Given the description of an element on the screen output the (x, y) to click on. 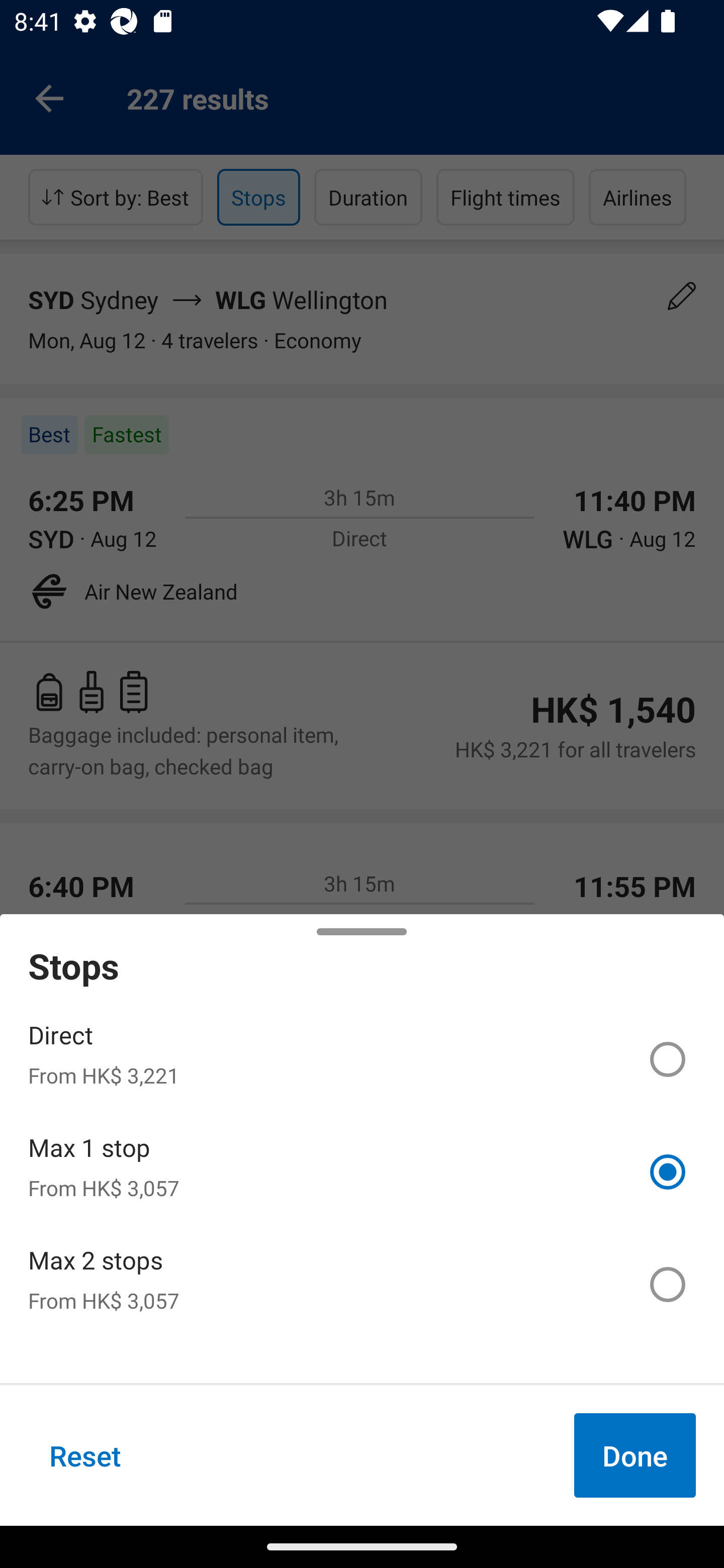
Direct From HK$ 3,221 (362, 1059)
Max 1 stop From HK$ 3,057 (362, 1171)
Max 2 stops From HK$ 3,057 (362, 1283)
Reset (85, 1454)
Done (634, 1454)
